Given the description of an element on the screen output the (x, y) to click on. 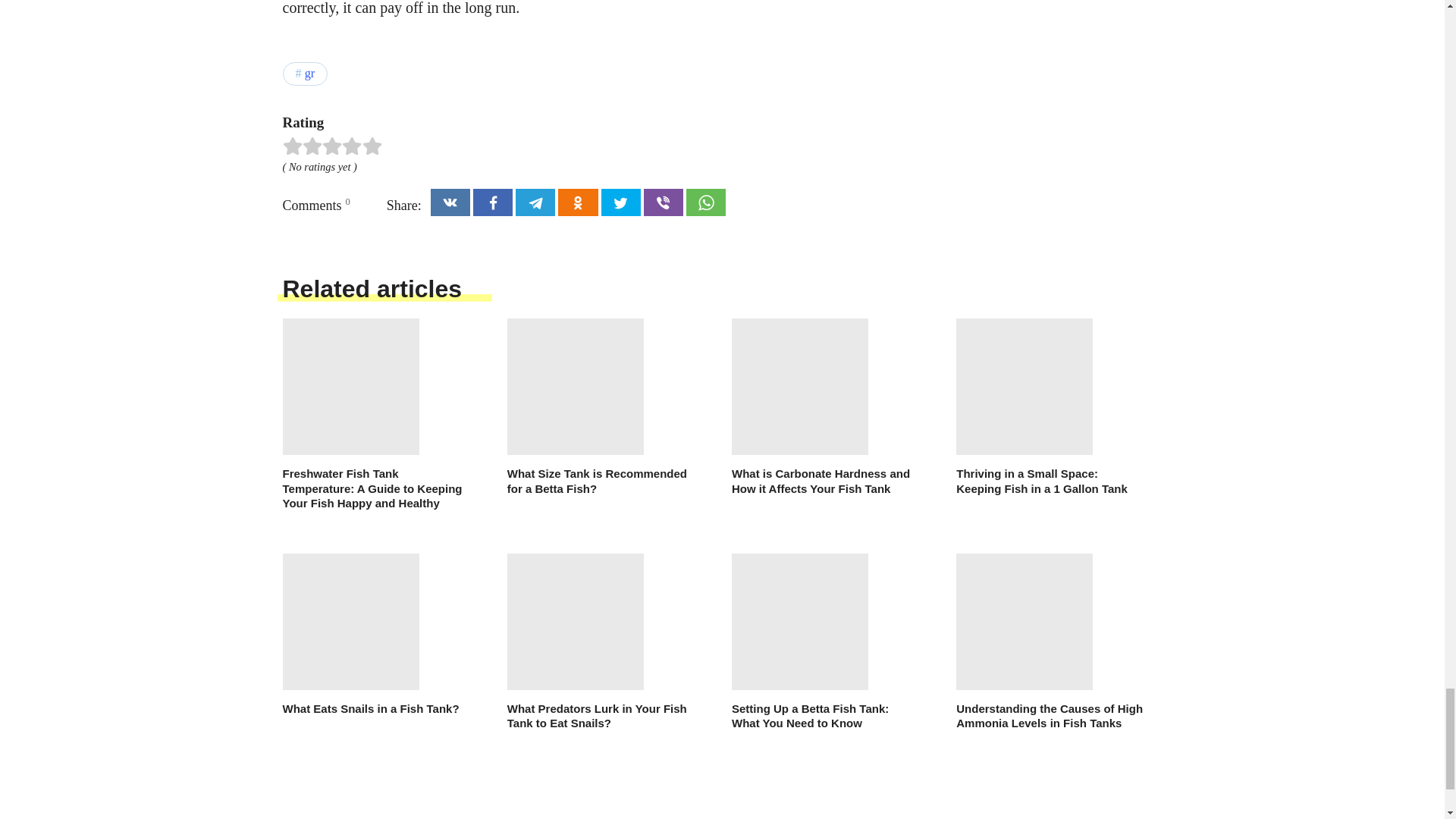
gr (304, 73)
Thriving in a Small Space: Keeping Fish in a 1 Gallon Tank (1049, 407)
What is Carbonate Hardness and How it Affects Your Fish Tank (825, 407)
What Eats Snails in a Fish Tank? (375, 634)
What Size Tank is Recommended for a Betta Fish? (600, 407)
Setting Up a Betta Fish Tank: What You Need to Know (825, 642)
What Predators Lurk in Your Fish Tank to Eat Snails? (600, 642)
